Given the description of an element on the screen output the (x, y) to click on. 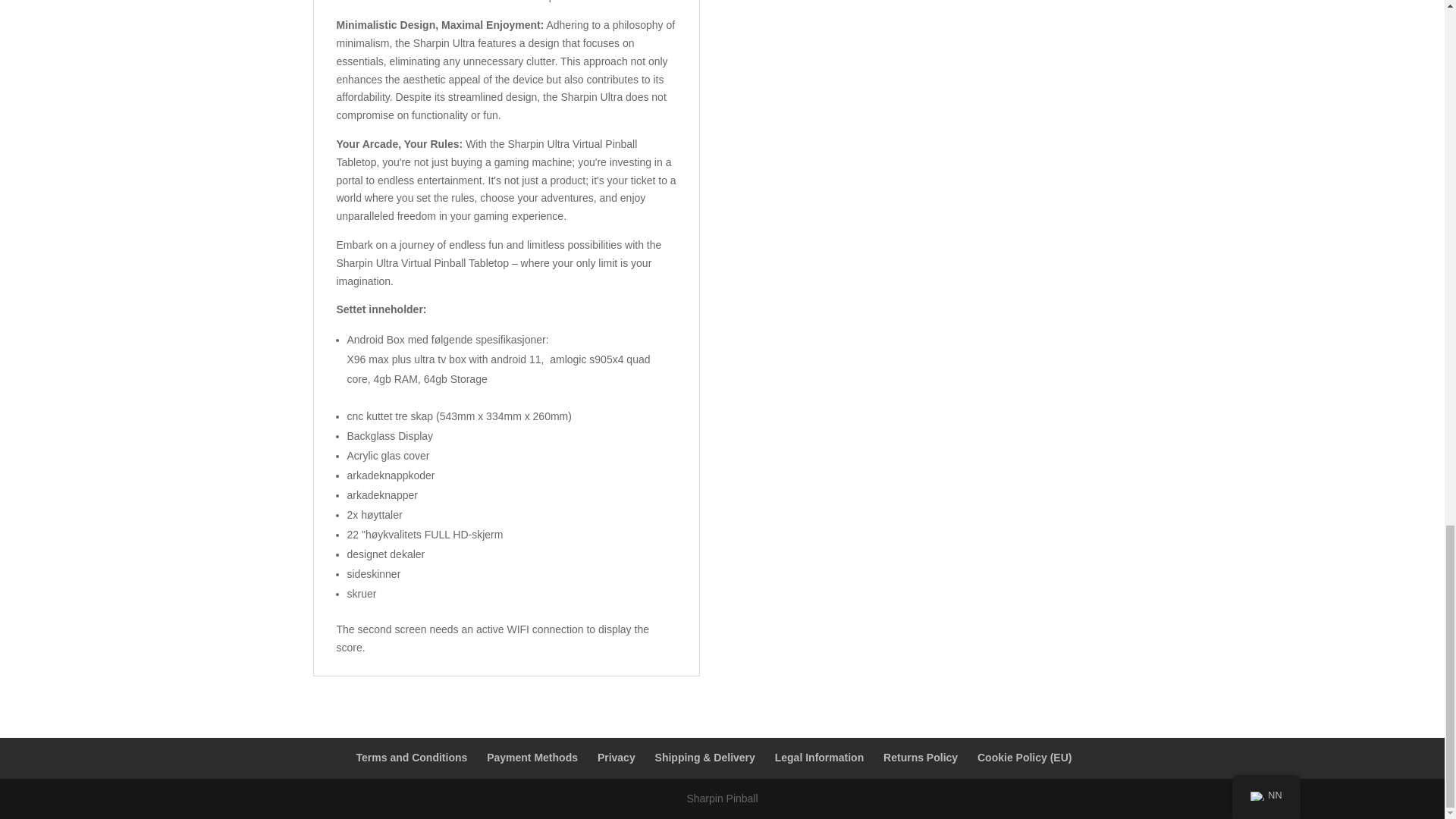
Terms and Conditions (411, 757)
Legal Information (818, 757)
Payment Methods (532, 757)
Privacy (615, 757)
Returns Policy (920, 757)
